Given the description of an element on the screen output the (x, y) to click on. 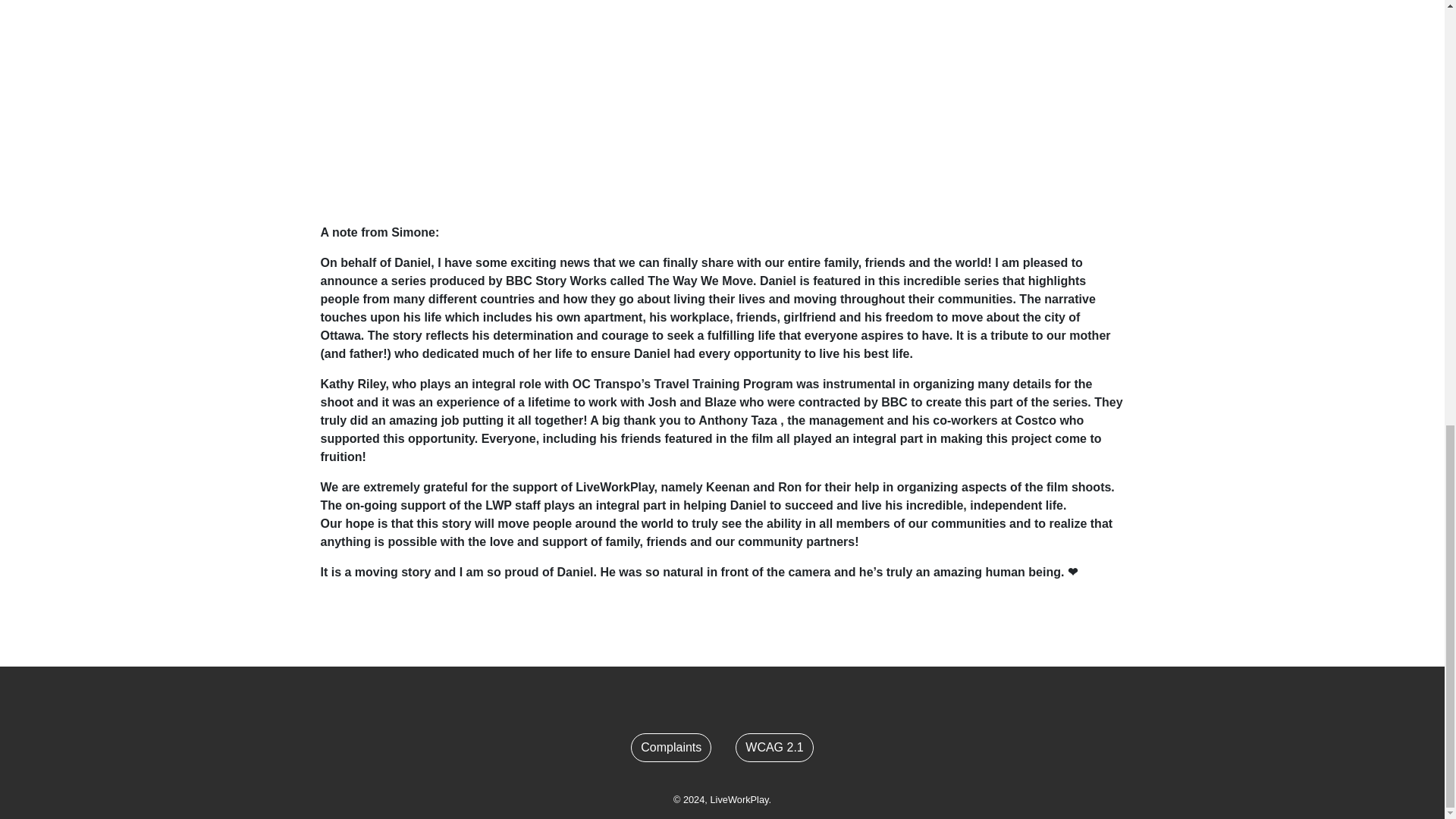
WCAG 2.1 (773, 747)
Complaints (670, 747)
